Given the description of an element on the screen output the (x, y) to click on. 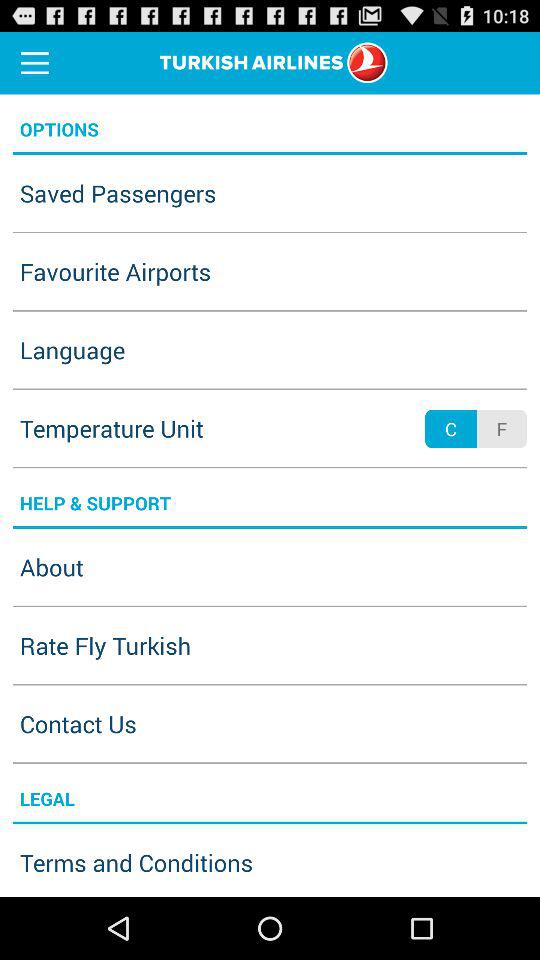
choose item to the left of the f app (450, 428)
